Given the description of an element on the screen output the (x, y) to click on. 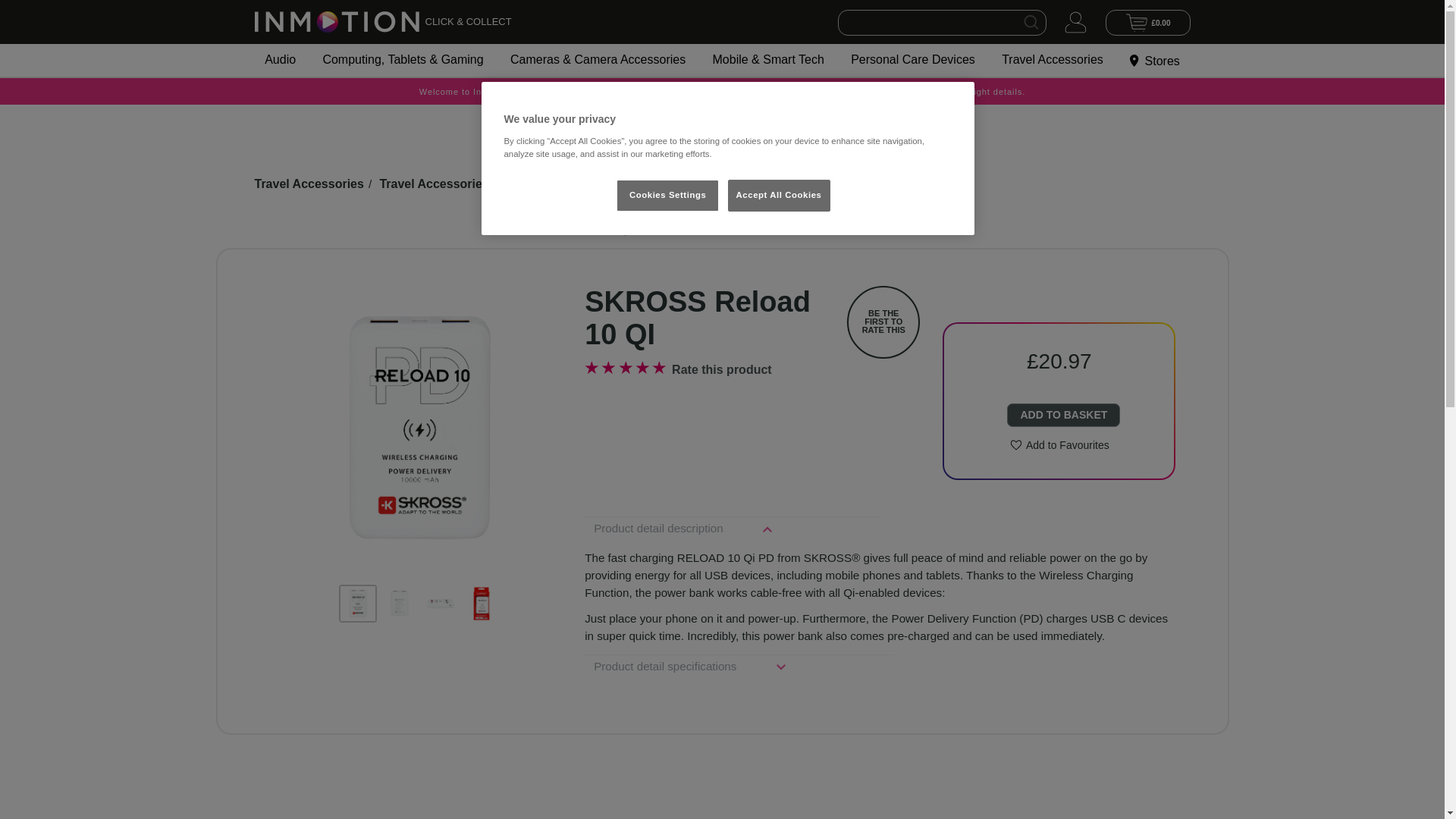
Picture of SKROSS Reload 10 QI (703, 427)
Picture of SKROSS Reload 10 QI (398, 603)
Picture of SKROSS Reload 10 QI (357, 603)
Audio (279, 59)
Picture of SKROSS Reload 10 QI (420, 427)
Picture of SKROSS Reload 10 QI (481, 603)
Picture of SKROSS Reload 10 QI (440, 603)
